Given the description of an element on the screen output the (x, y) to click on. 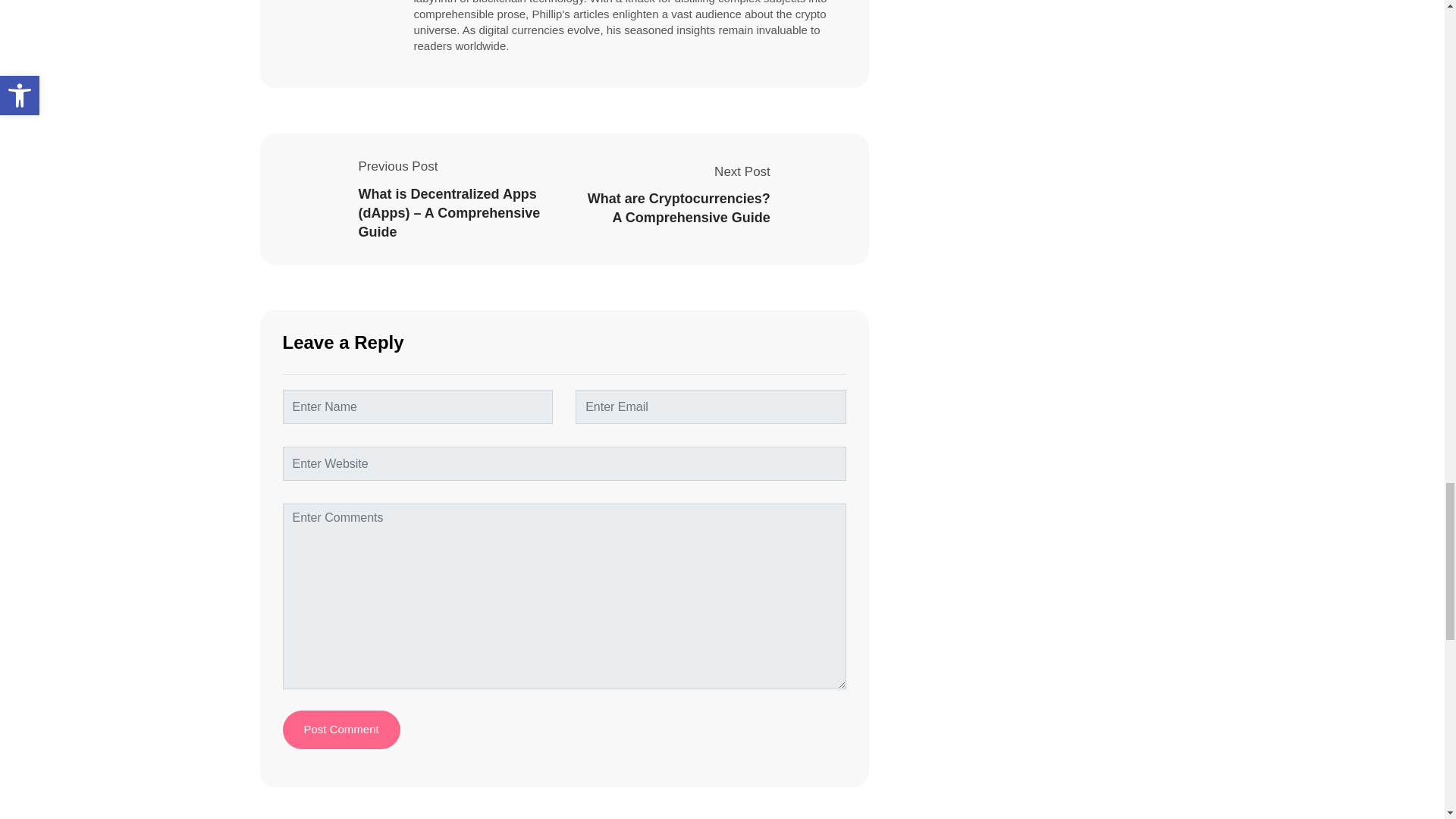
Post Comment (340, 729)
What are Cryptocurrencies? A Comprehensive Guide (678, 208)
Post Comment (340, 729)
